Given the description of an element on the screen output the (x, y) to click on. 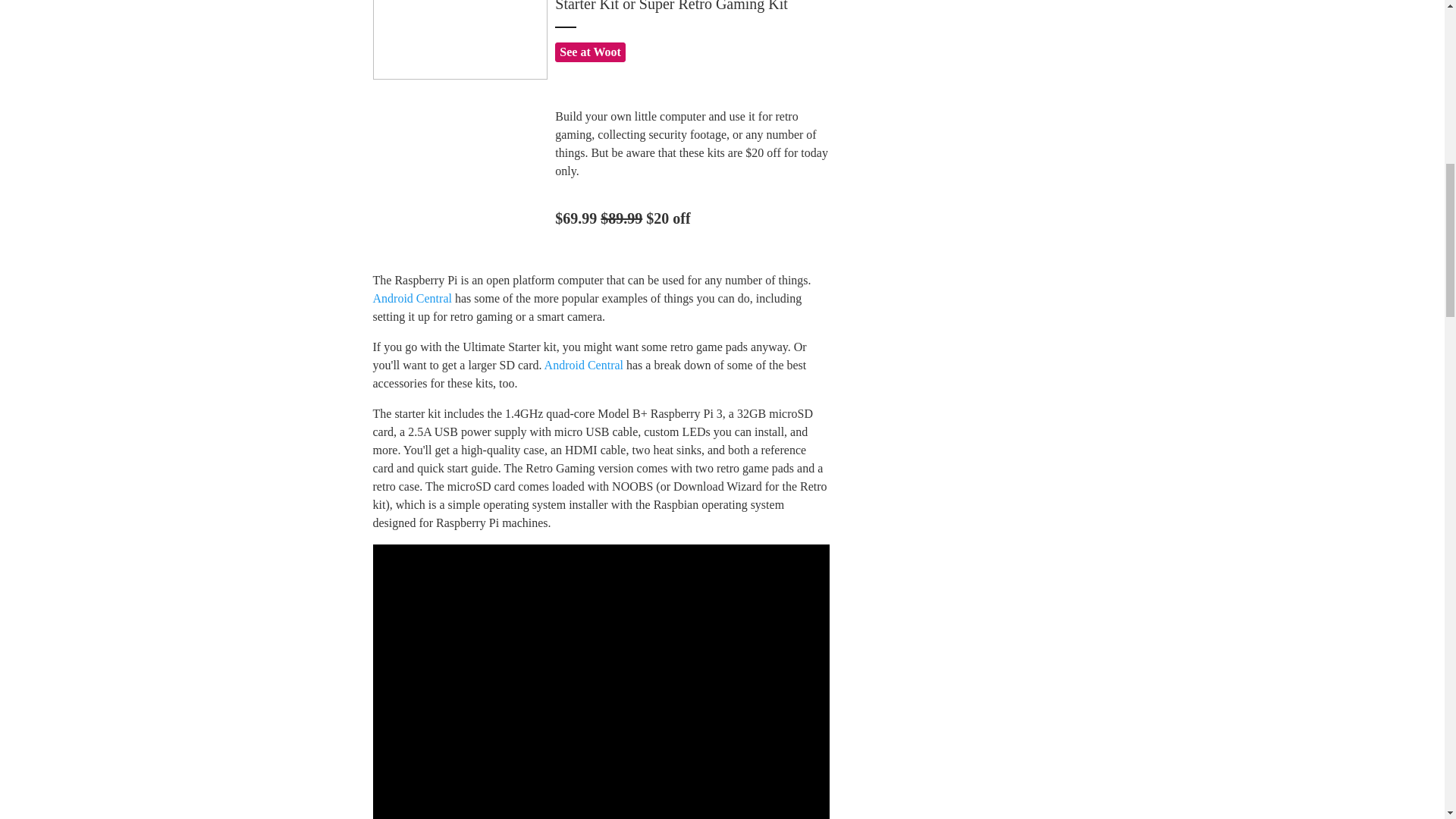
Android Central (411, 297)
See at Woot (590, 52)
Android Central (583, 364)
